Given the description of an element on the screen output the (x, y) to click on. 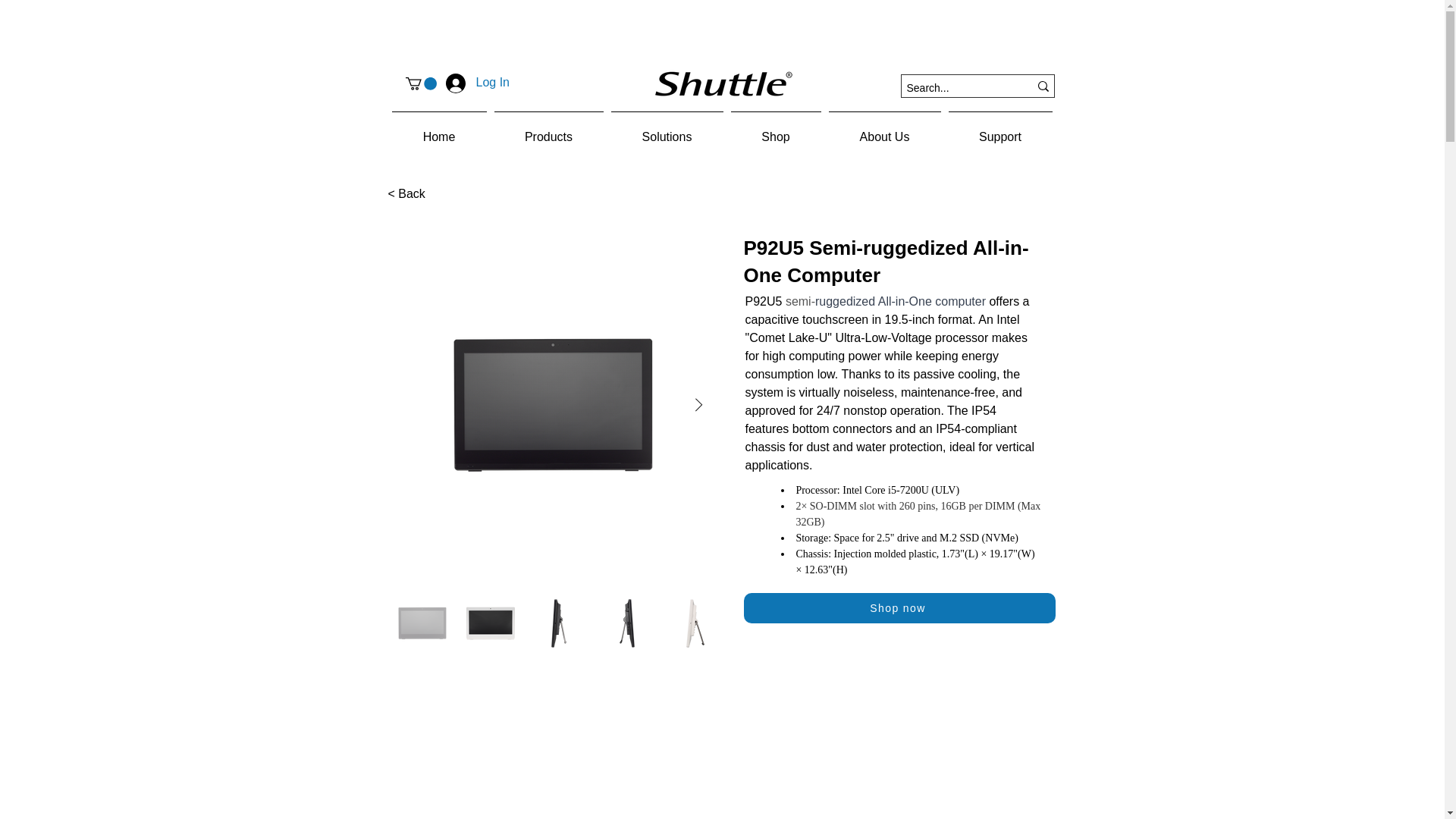
Products (548, 129)
Shop now (898, 607)
Support (1000, 129)
About Us (884, 129)
Shop (775, 129)
Solutions (666, 129)
Home (439, 129)
Log In (456, 82)
